Given the description of an element on the screen output the (x, y) to click on. 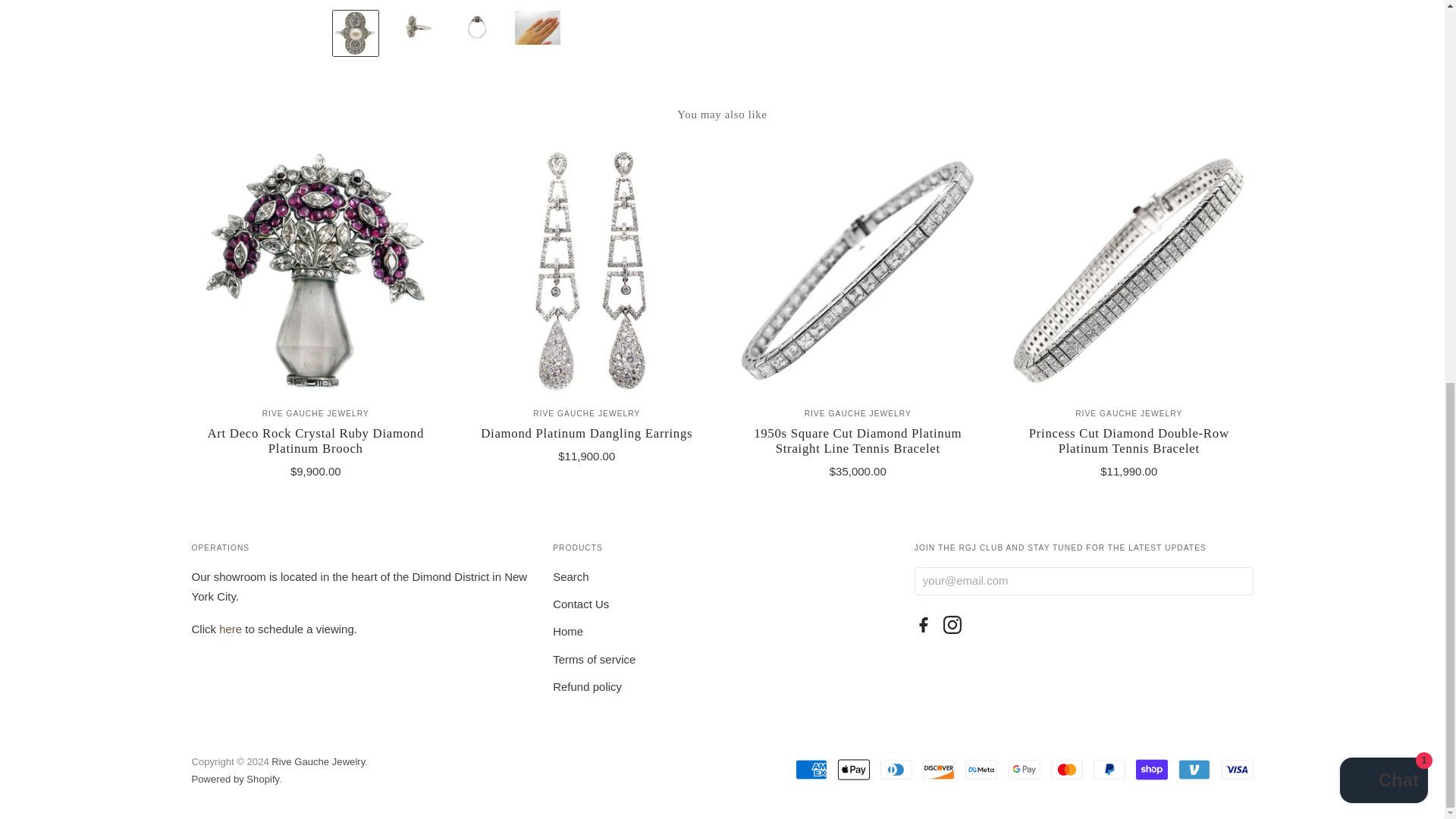
Rive Gauche Jewelry (858, 413)
Google Pay (1025, 769)
Shop Pay (1151, 769)
Diners Club (896, 769)
Rive Gauche Jewelry (586, 413)
Rive Gauche Jewelry (315, 413)
Apple Pay (853, 769)
Meta Pay (981, 769)
PayPal (1109, 769)
Mastercard (1067, 769)
Shopify online store chat (1383, 65)
Rive Gauche Jewelry (1128, 413)
Discover (939, 769)
American Express (810, 769)
Contact Us (230, 628)
